Given the description of an element on the screen output the (x, y) to click on. 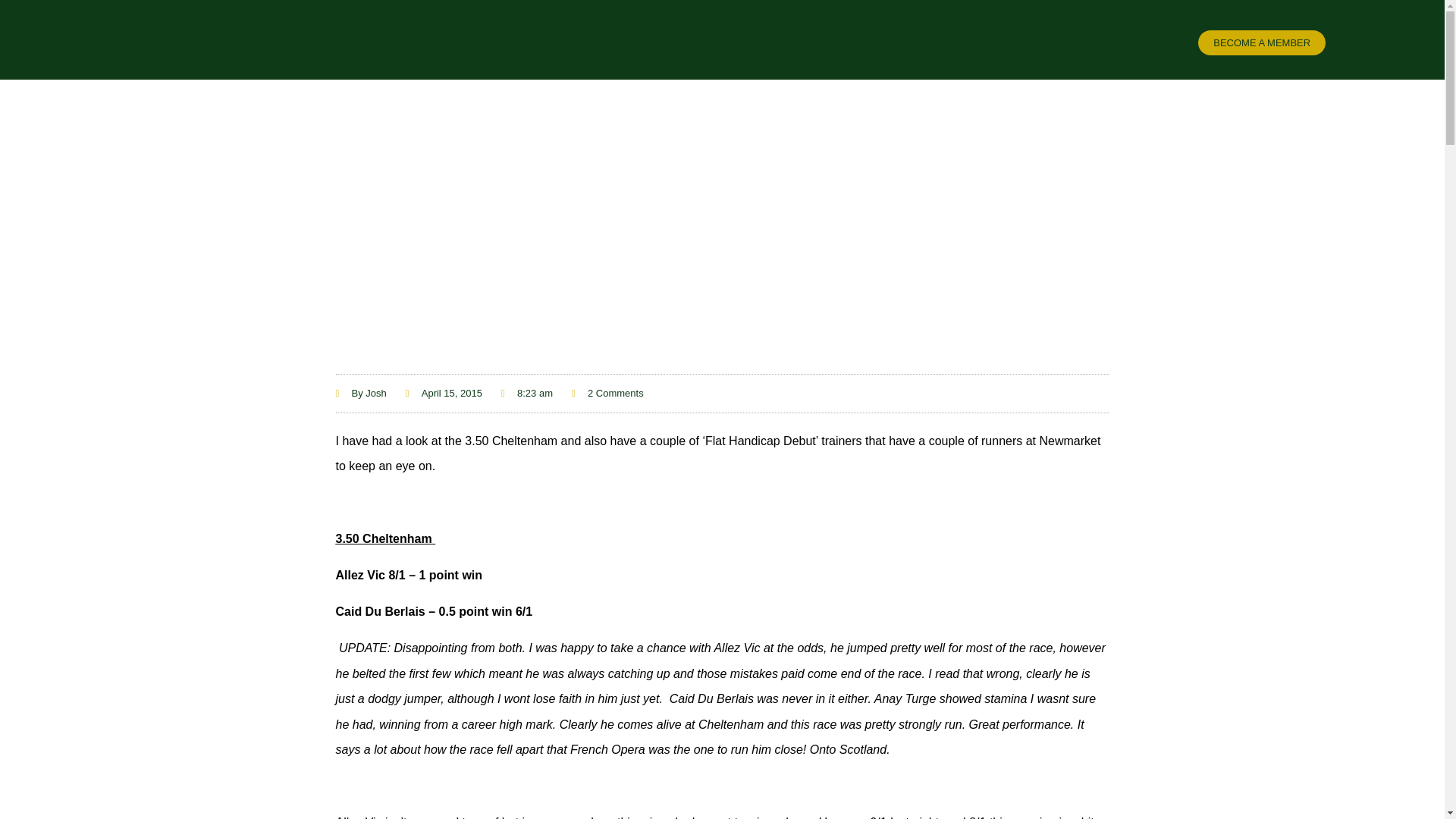
By Josh (359, 393)
BECOME A MEMBER (1261, 42)
April 15, 2015 (443, 393)
2 Comments (607, 393)
